Given the description of an element on the screen output the (x, y) to click on. 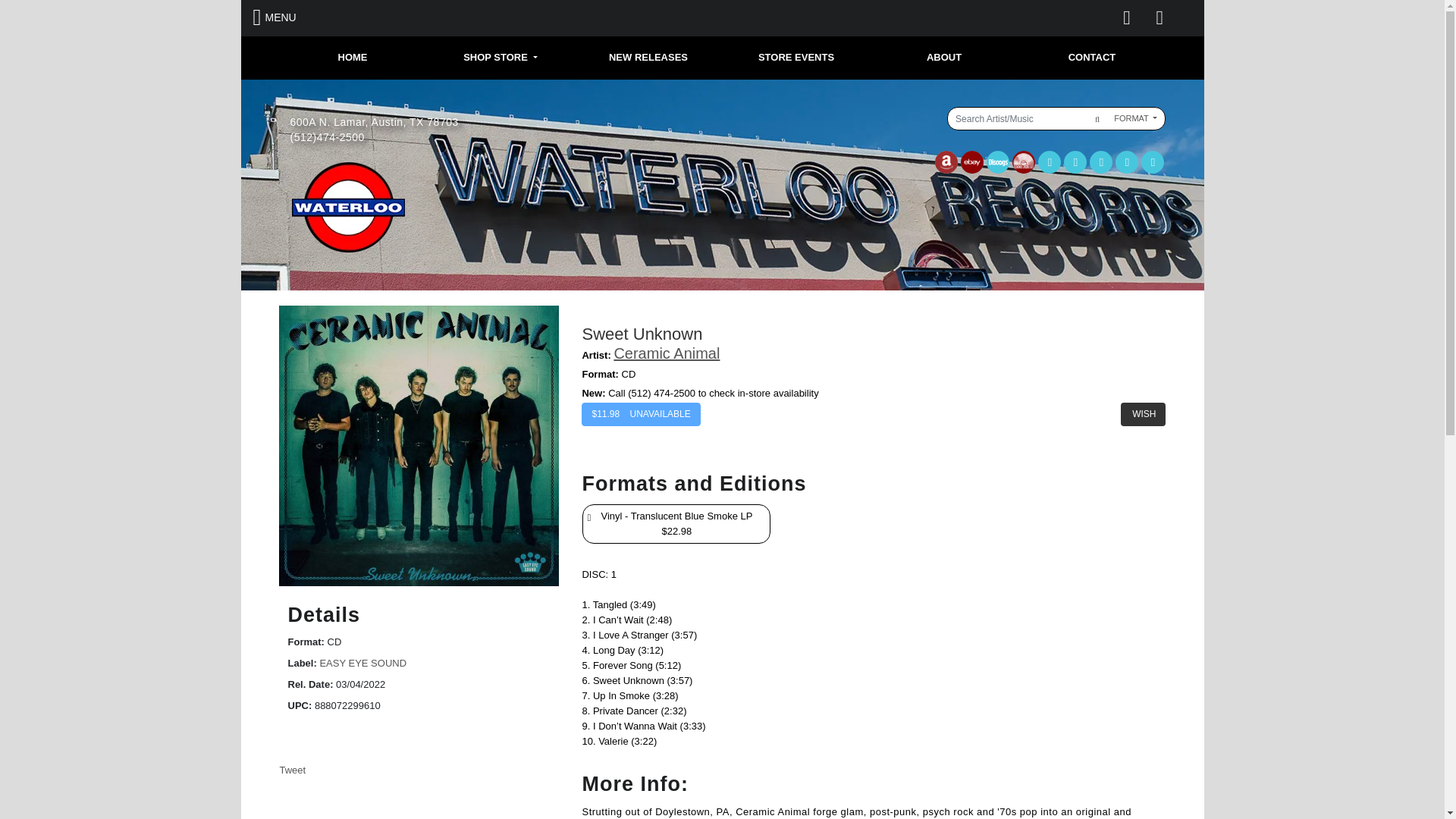
MENU (274, 17)
STORE EVENTS (795, 57)
Search (1094, 118)
NEW RELEASES (648, 57)
SHOP STORE (499, 57)
CONTACT (1091, 57)
ABOUT (943, 57)
Sweet Unknown (419, 445)
HOME (352, 57)
